Given the description of an element on the screen output the (x, y) to click on. 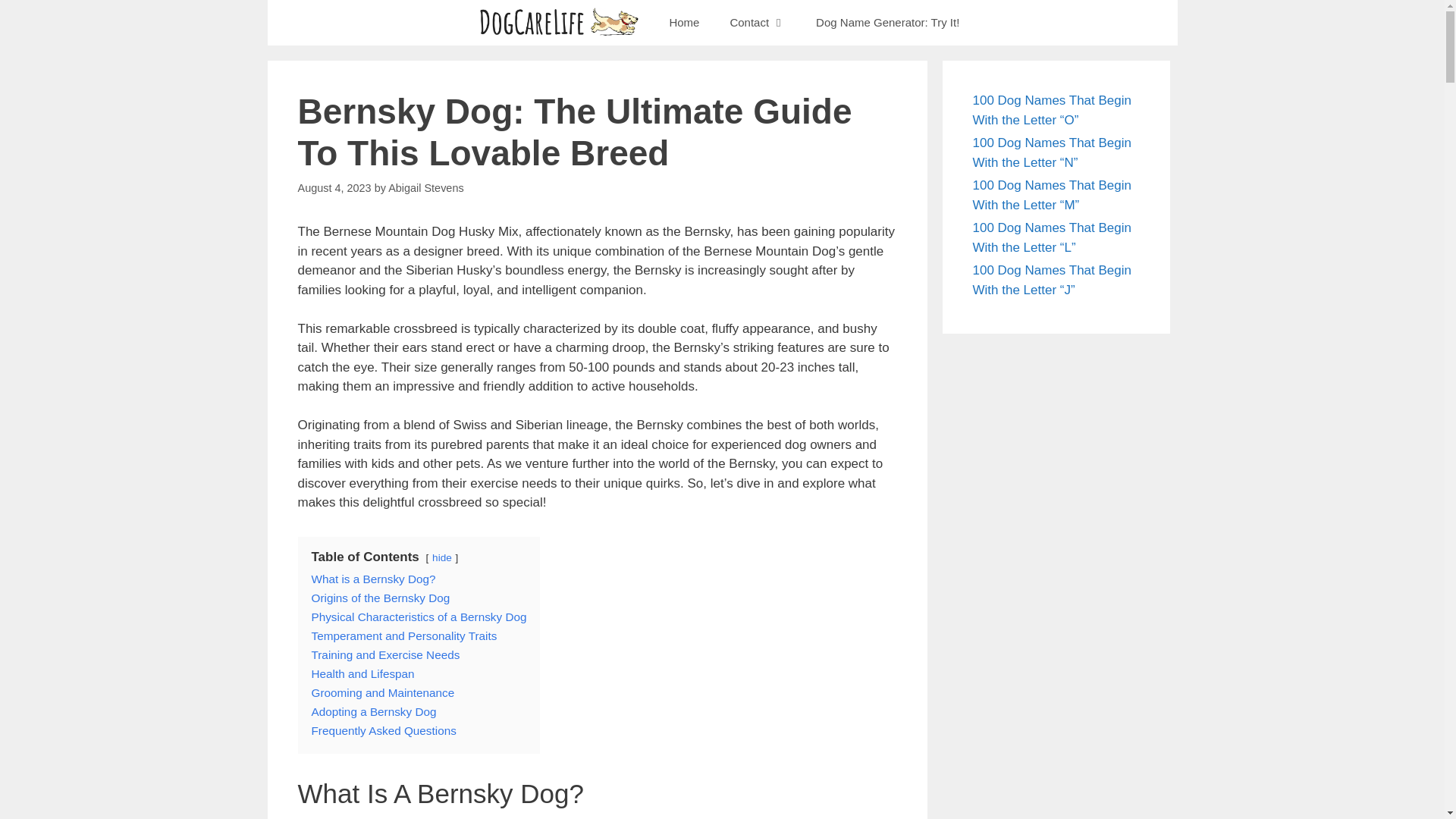
What is a Bernsky Dog? (373, 578)
Abigail Stevens (426, 187)
Temperament and Personality Traits (403, 635)
Adopting a Bernsky Dog (373, 711)
DogCareLife (561, 22)
Grooming and Maintenance (382, 692)
Training and Exercise Needs (385, 654)
Dog Name Generator: Try It! (887, 22)
hide (441, 557)
Physical Characteristics of a Bernsky Dog (418, 616)
